Given the description of an element on the screen output the (x, y) to click on. 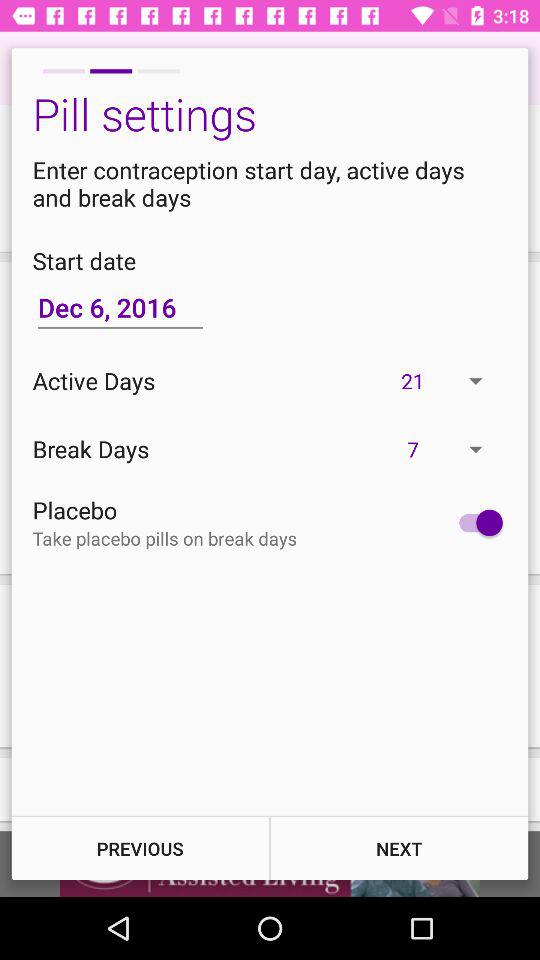
switch autoplay (476, 522)
